Given the description of an element on the screen output the (x, y) to click on. 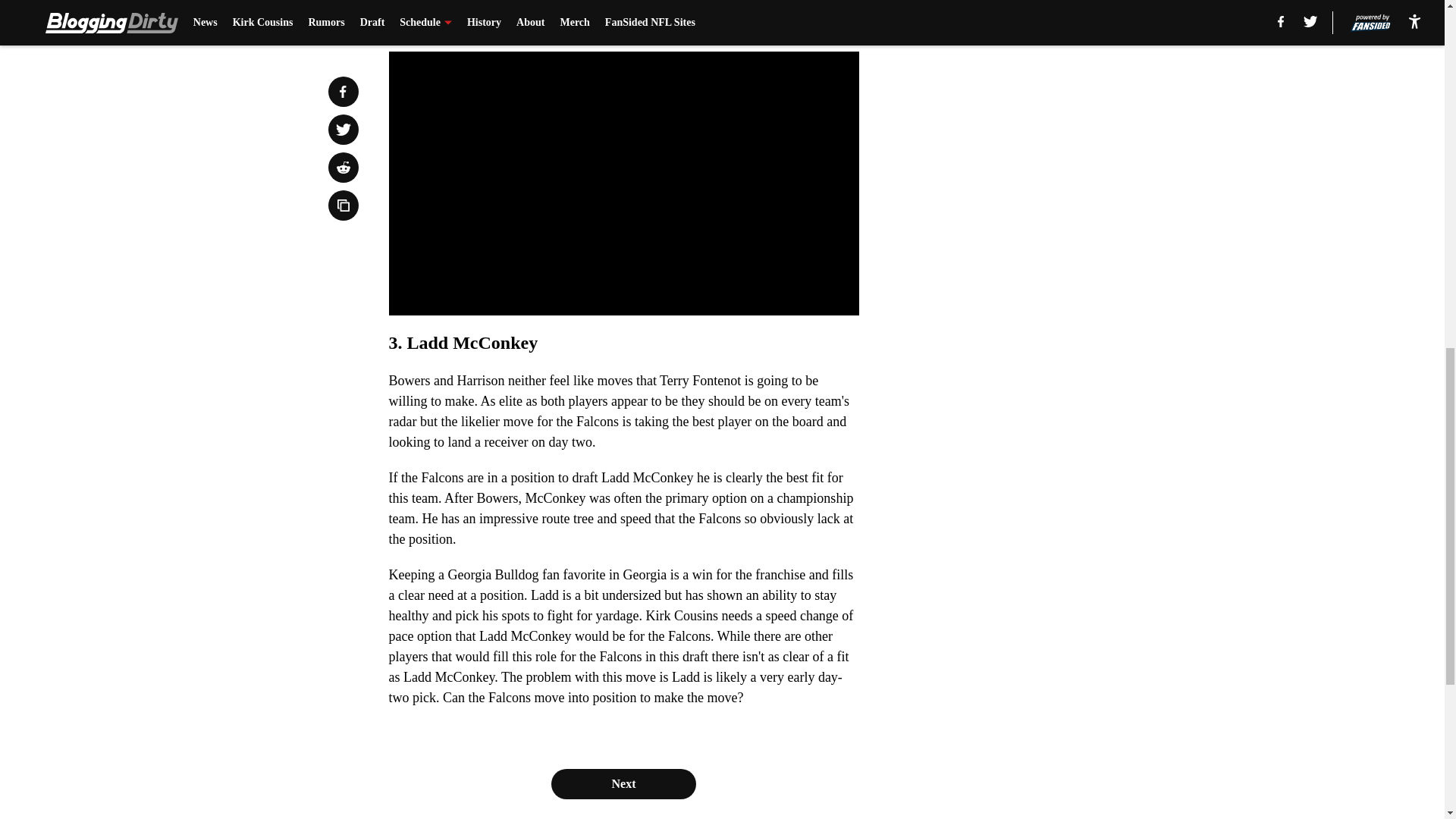
Next (813, 20)
Prev (433, 20)
Next (622, 784)
